Given the description of an element on the screen output the (x, y) to click on. 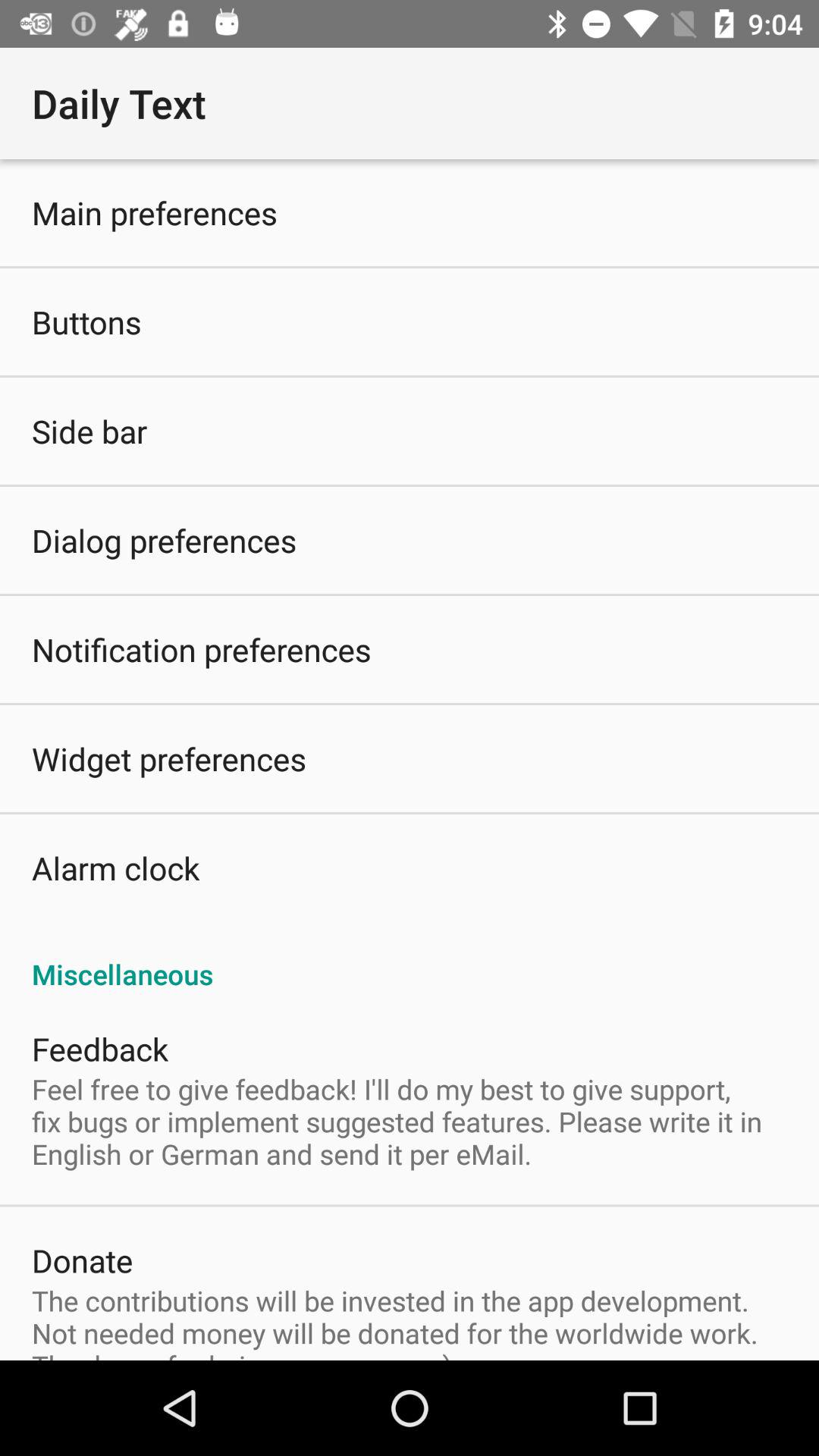
click alarm clock item (115, 867)
